Given the description of an element on the screen output the (x, y) to click on. 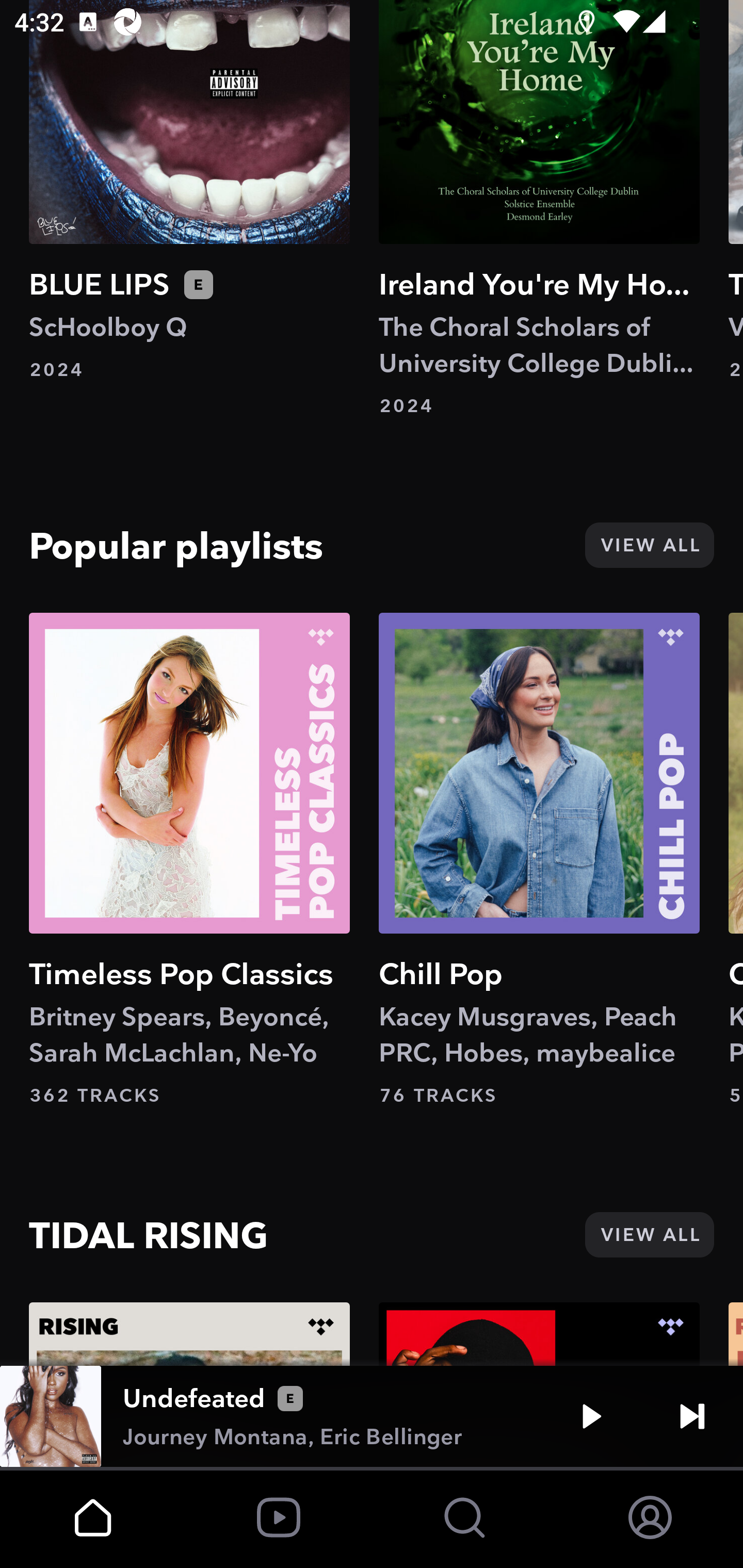
BLUE LIPS ScHoolboy Q 2024 (188, 190)
VIEW ALL (649, 544)
VIEW ALL (649, 1234)
Undefeated    Journey Montana, Eric Bellinger Play (371, 1416)
Play (590, 1416)
